Given the description of an element on the screen output the (x, y) to click on. 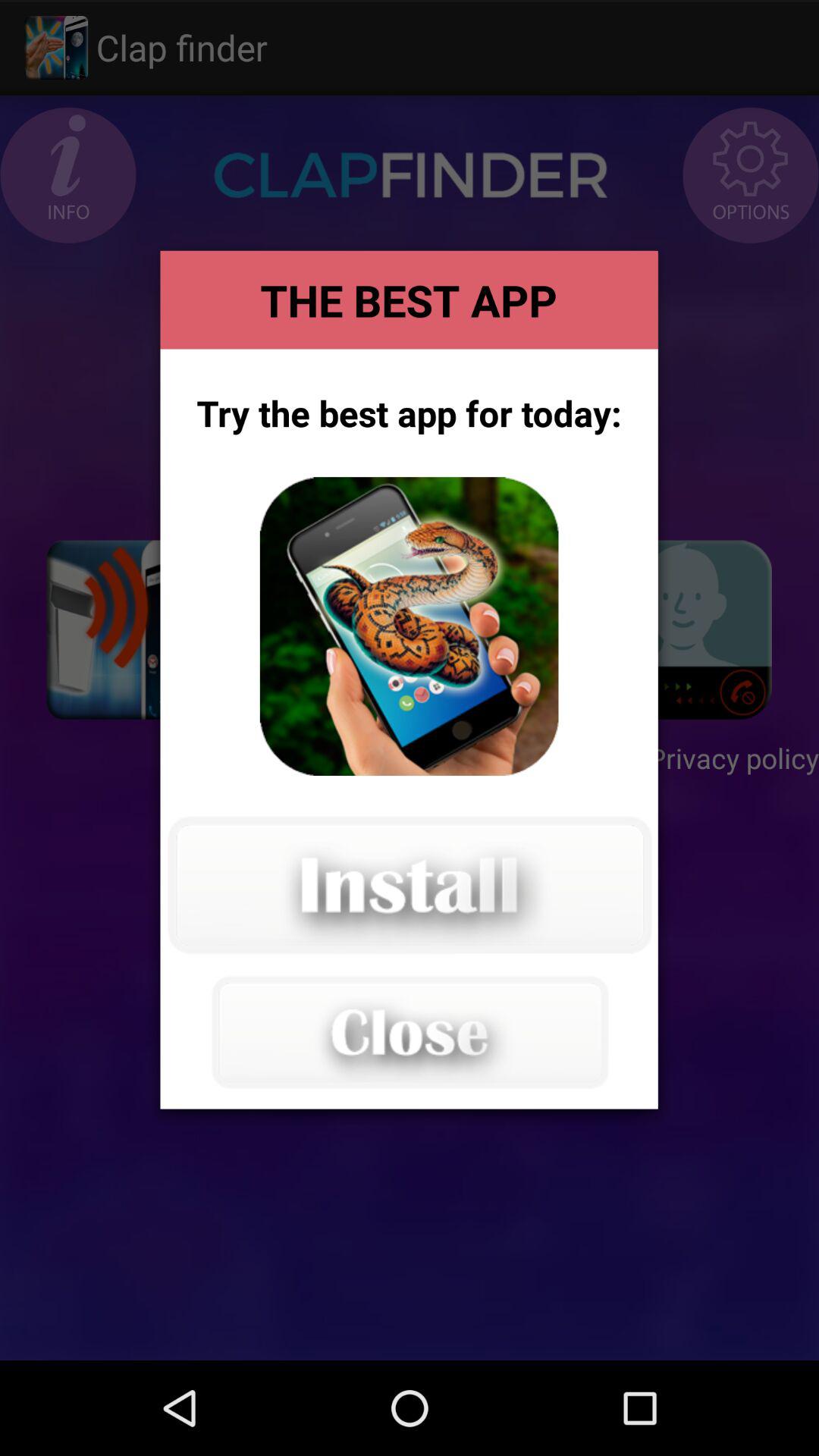
installation button (409, 884)
